Given the description of an element on the screen output the (x, y) to click on. 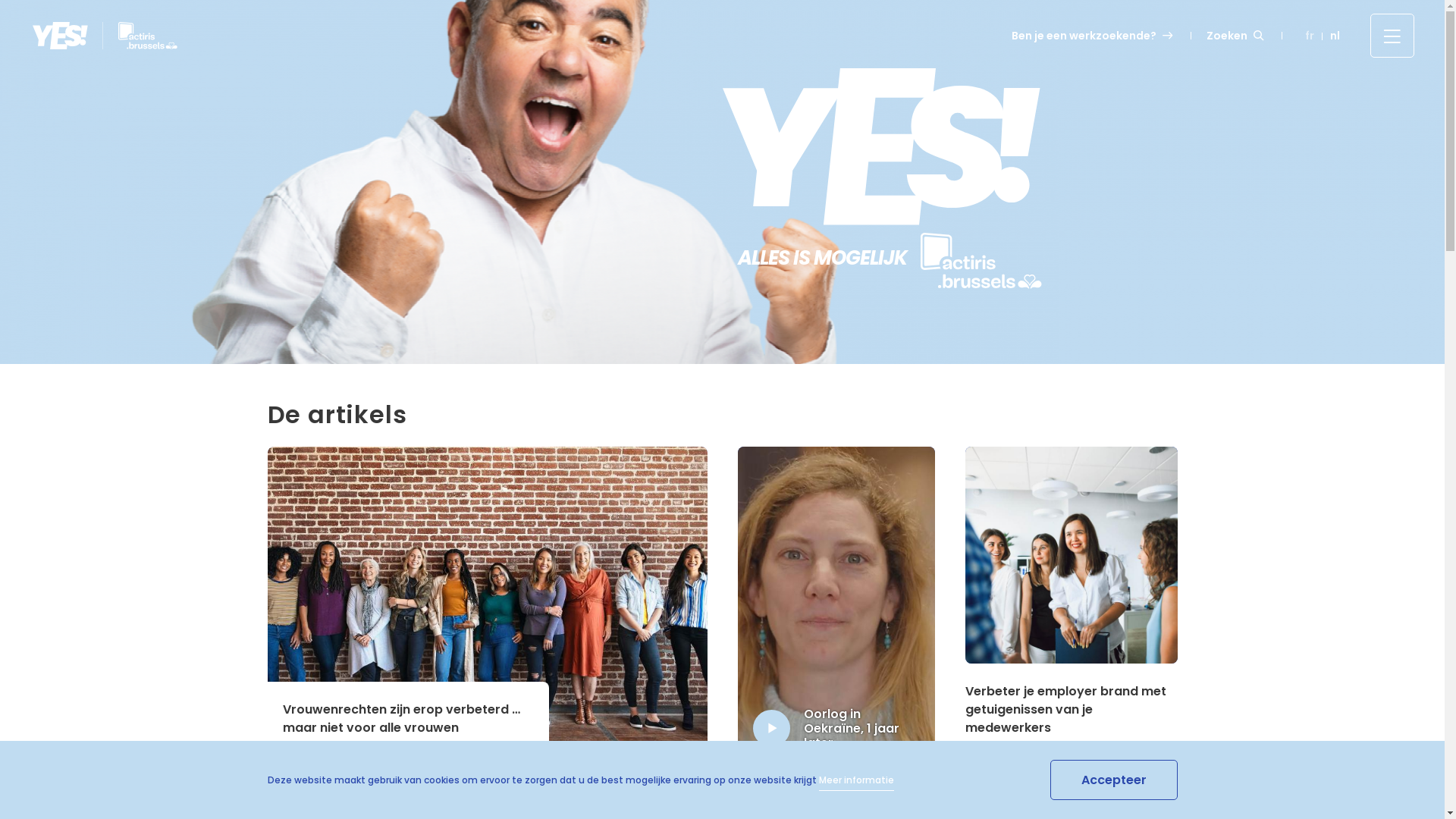
Accepteer Element type: text (1112, 779)
nl Element type: text (1334, 35)
Ben je een werkzoekende? Element type: text (1093, 35)
Meer informatie Element type: text (856, 781)
Zoeken Element type: text (1236, 35)
fr Element type: text (1309, 35)
